Given the description of an element on the screen output the (x, y) to click on. 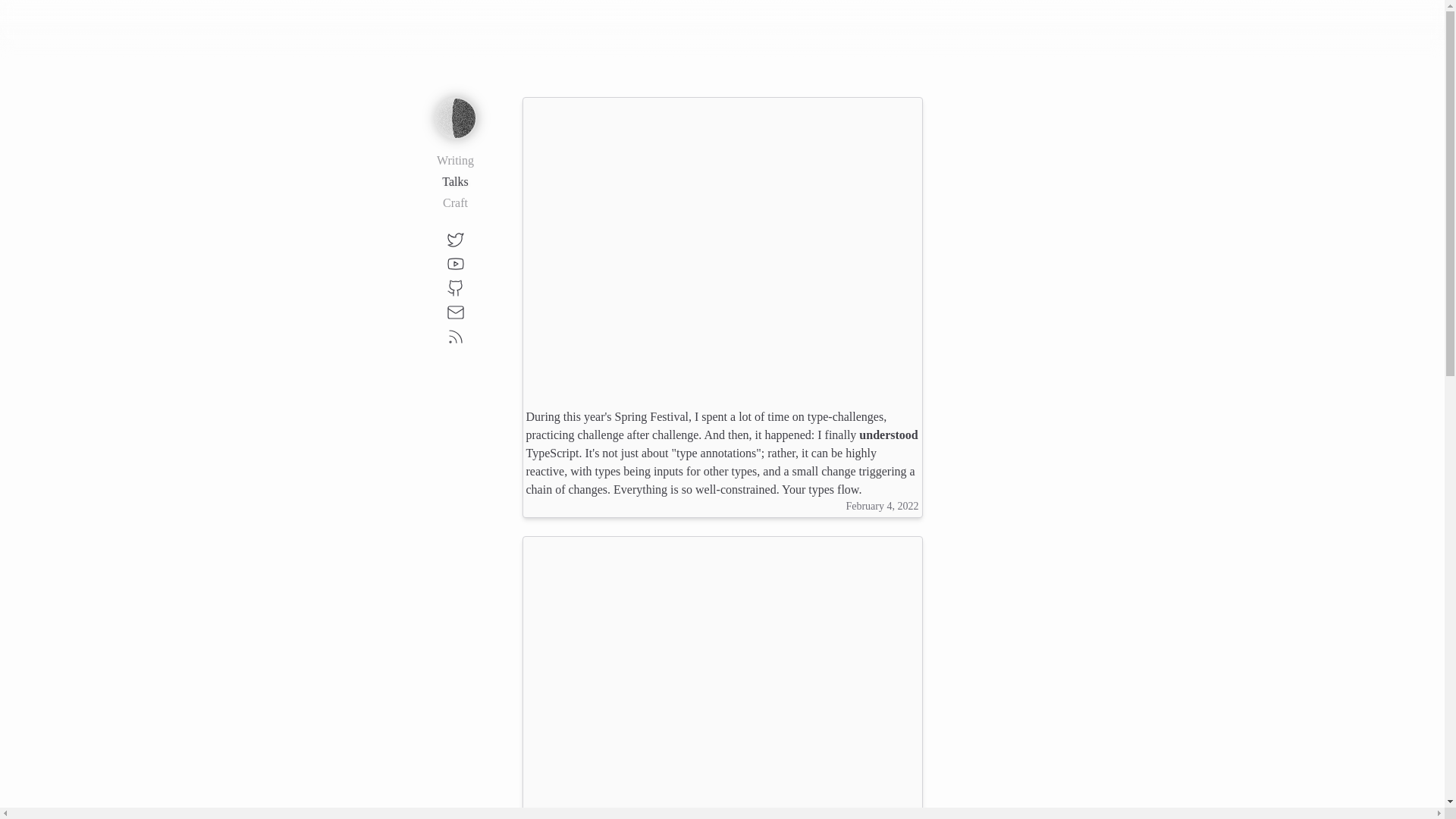
Talks (454, 181)
type-challenges (845, 415)
Craft (454, 202)
Writing (455, 160)
Advanced TypeScript (721, 247)
Template Literal Types (721, 679)
